Given the description of an element on the screen output the (x, y) to click on. 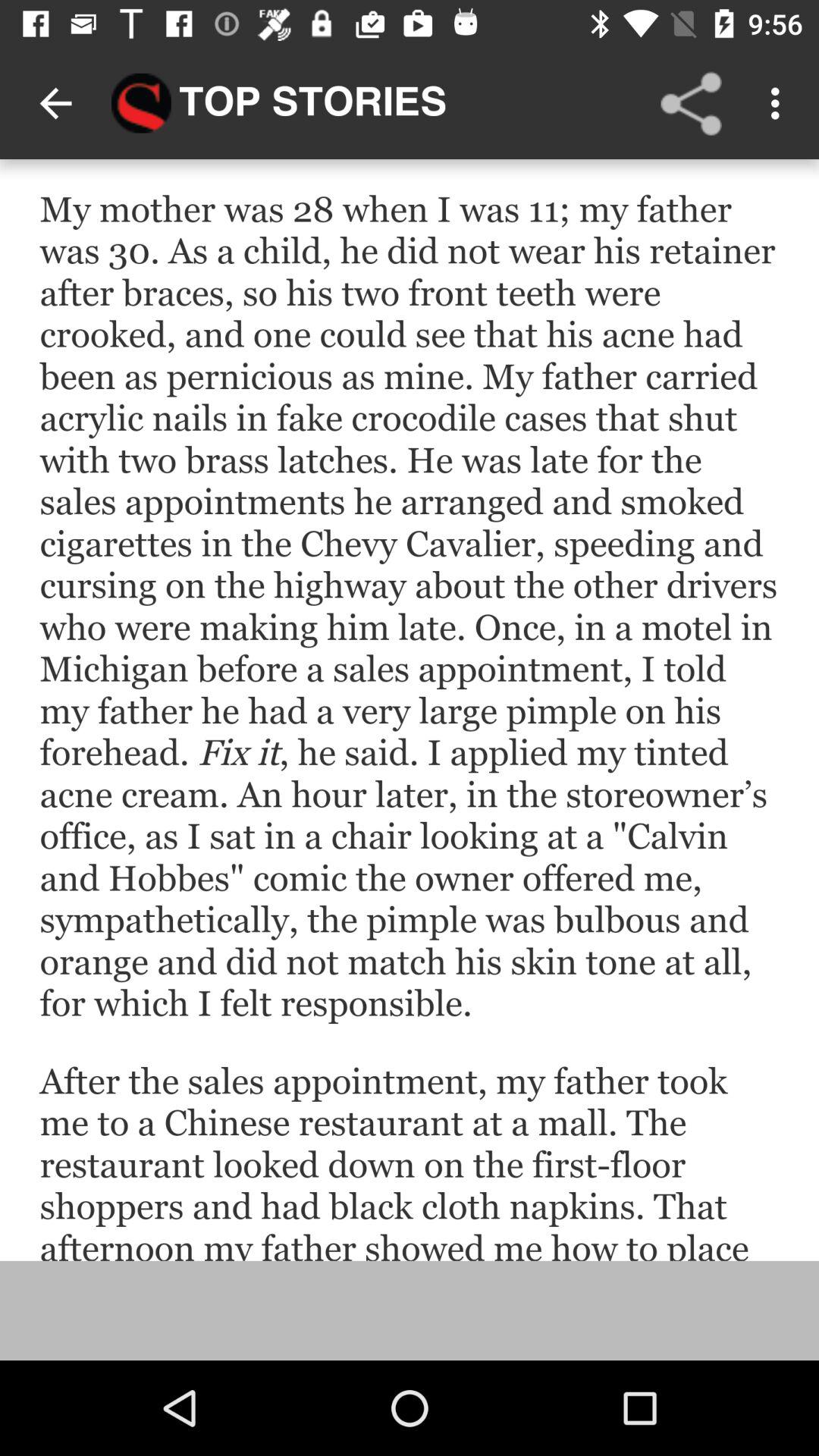
files (409, 709)
